Given the description of an element on the screen output the (x, y) to click on. 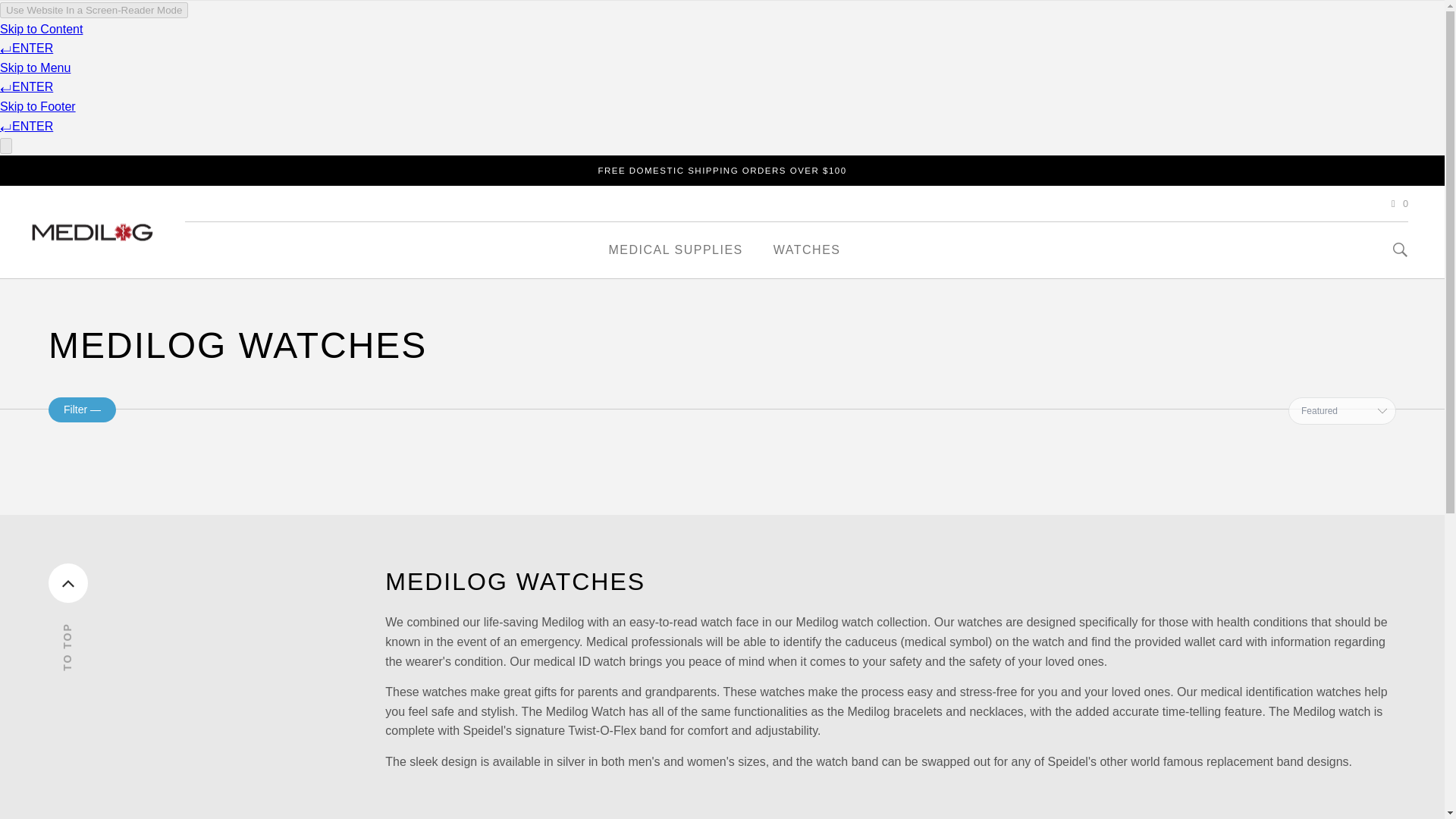
medilog.com (92, 231)
Cart (1397, 205)
WATCHES (807, 249)
medilog.com (92, 231)
MEDICAL SUPPLIES (676, 249)
TO TOP (216, 591)
0 (1397, 205)
